Given the description of an element on the screen output the (x, y) to click on. 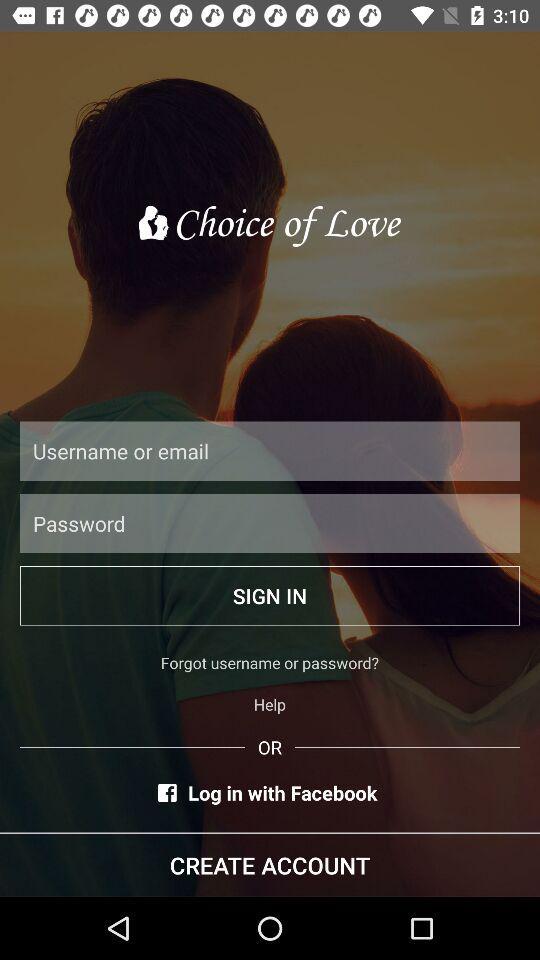
swipe until the forgot username or icon (269, 662)
